Given the description of an element on the screen output the (x, y) to click on. 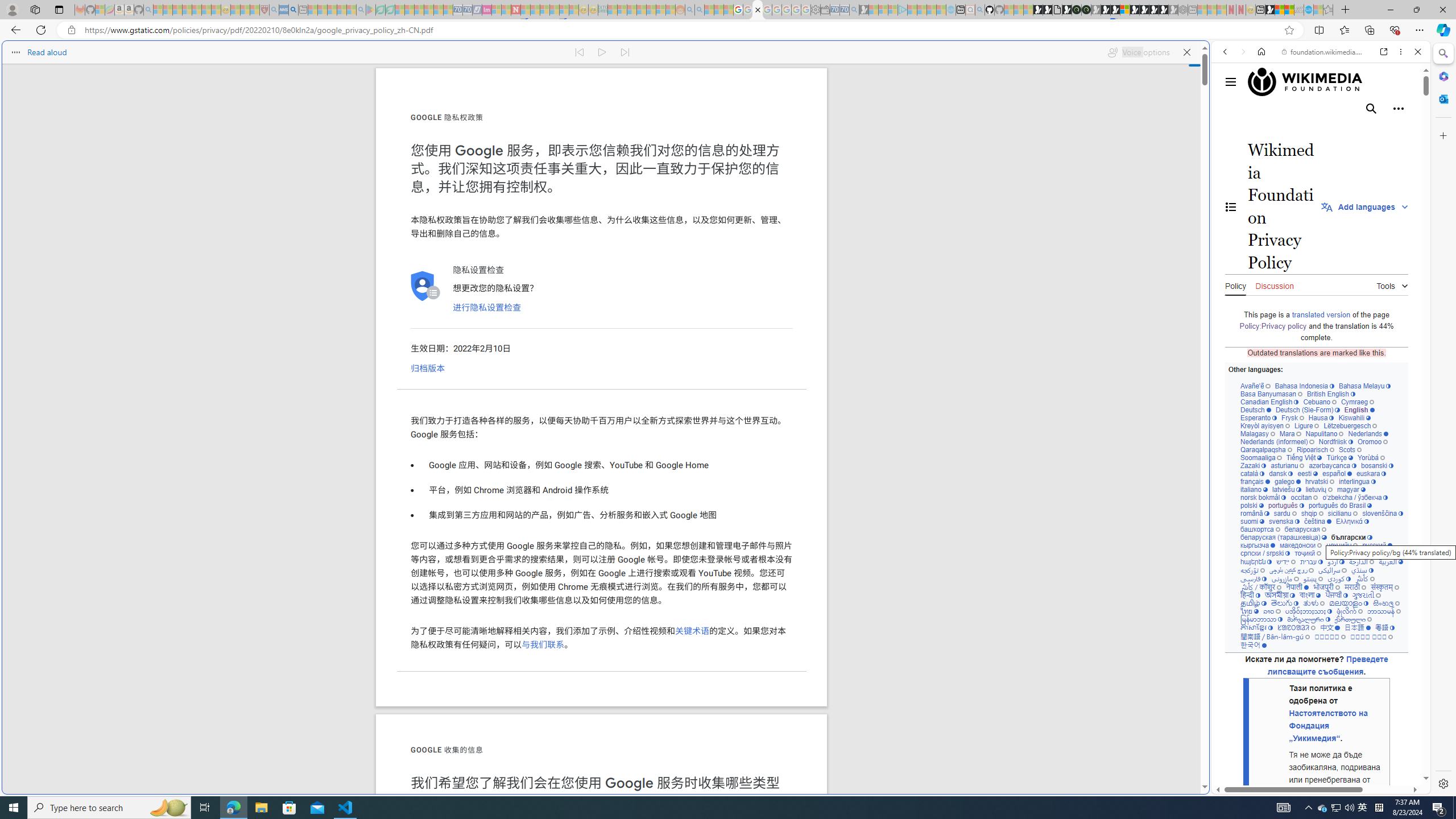
Wikimedia Foundation Governance Wiki (1310, 81)
sardu (1285, 513)
